Given the description of an element on the screen output the (x, y) to click on. 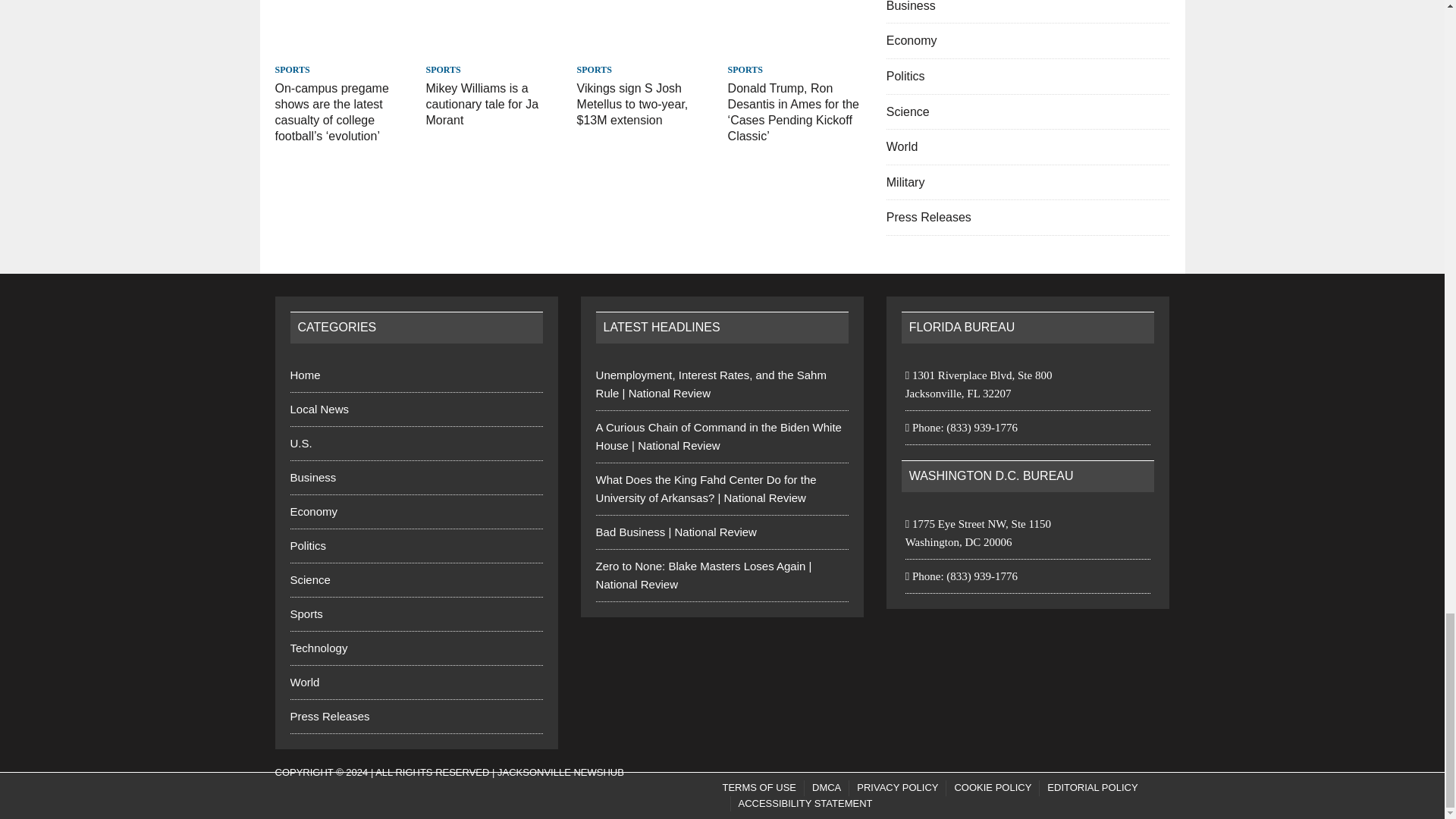
Mikey Williams is a cautionary tale for Ja Morant (494, 48)
SPORTS (291, 69)
Mikey Williams is a cautionary tale for Ja Morant (482, 103)
